Given the description of an element on the screen output the (x, y) to click on. 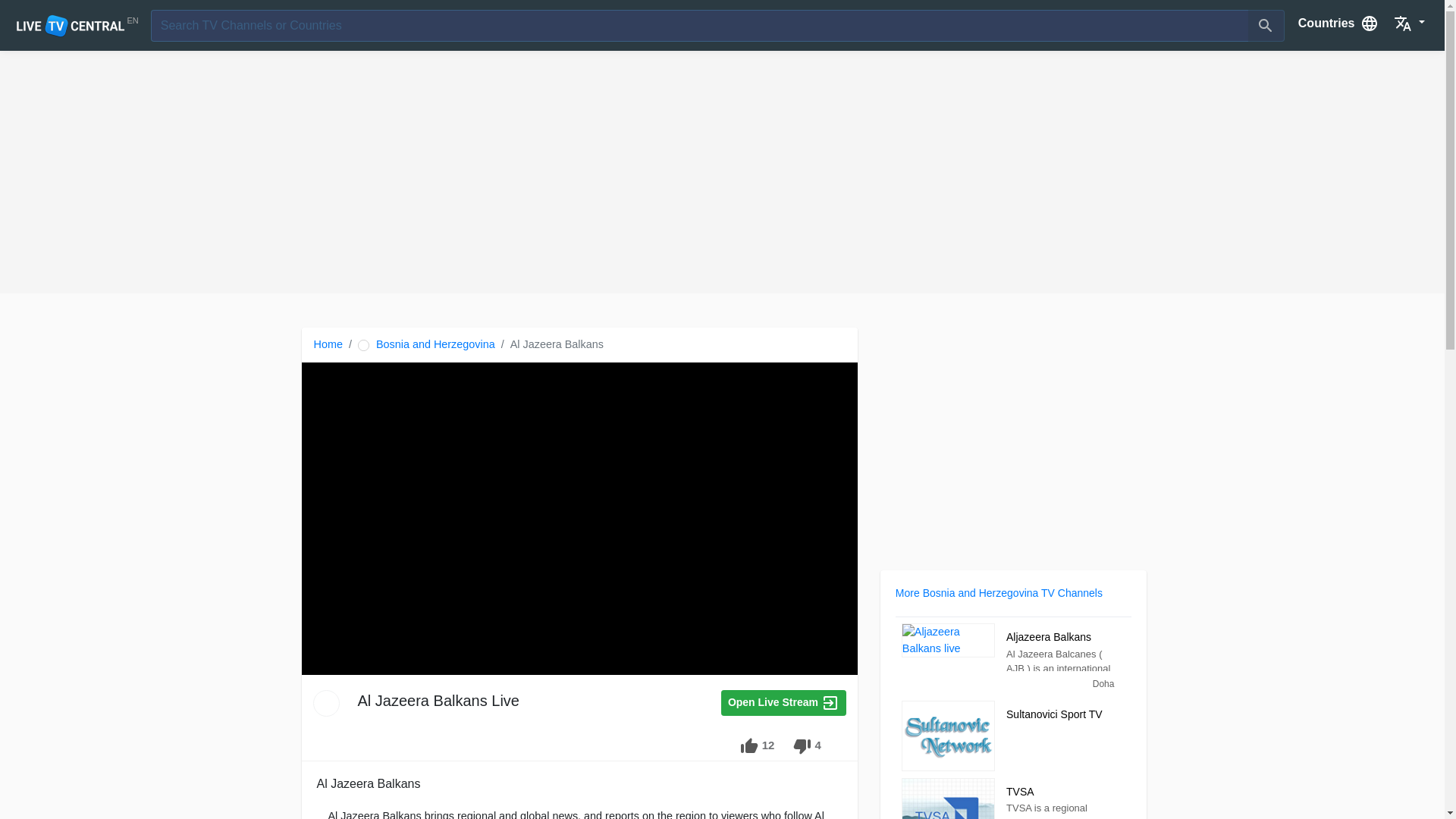
4 (807, 746)
Sultanovici Sport TV (1059, 715)
Home (328, 344)
Aljazeera Balkans (947, 640)
Sultanovici Sport TV (947, 736)
TVSA (947, 798)
More Bosnia and Herzegovina TV Channels (998, 593)
Open Live Stream (782, 702)
Countries (1338, 22)
